Given the description of an element on the screen output the (x, y) to click on. 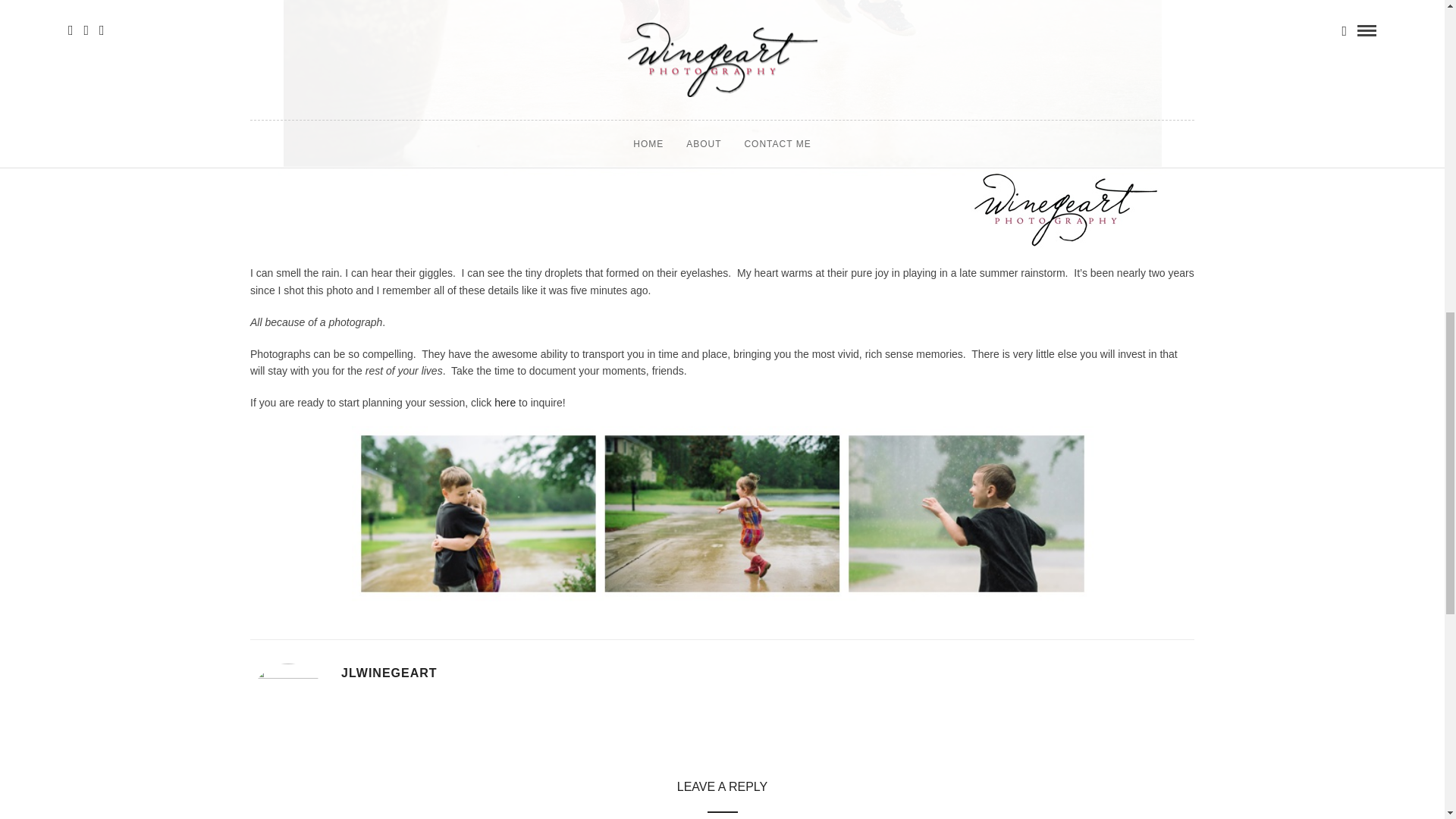
here (505, 402)
